Given the description of an element on the screen output the (x, y) to click on. 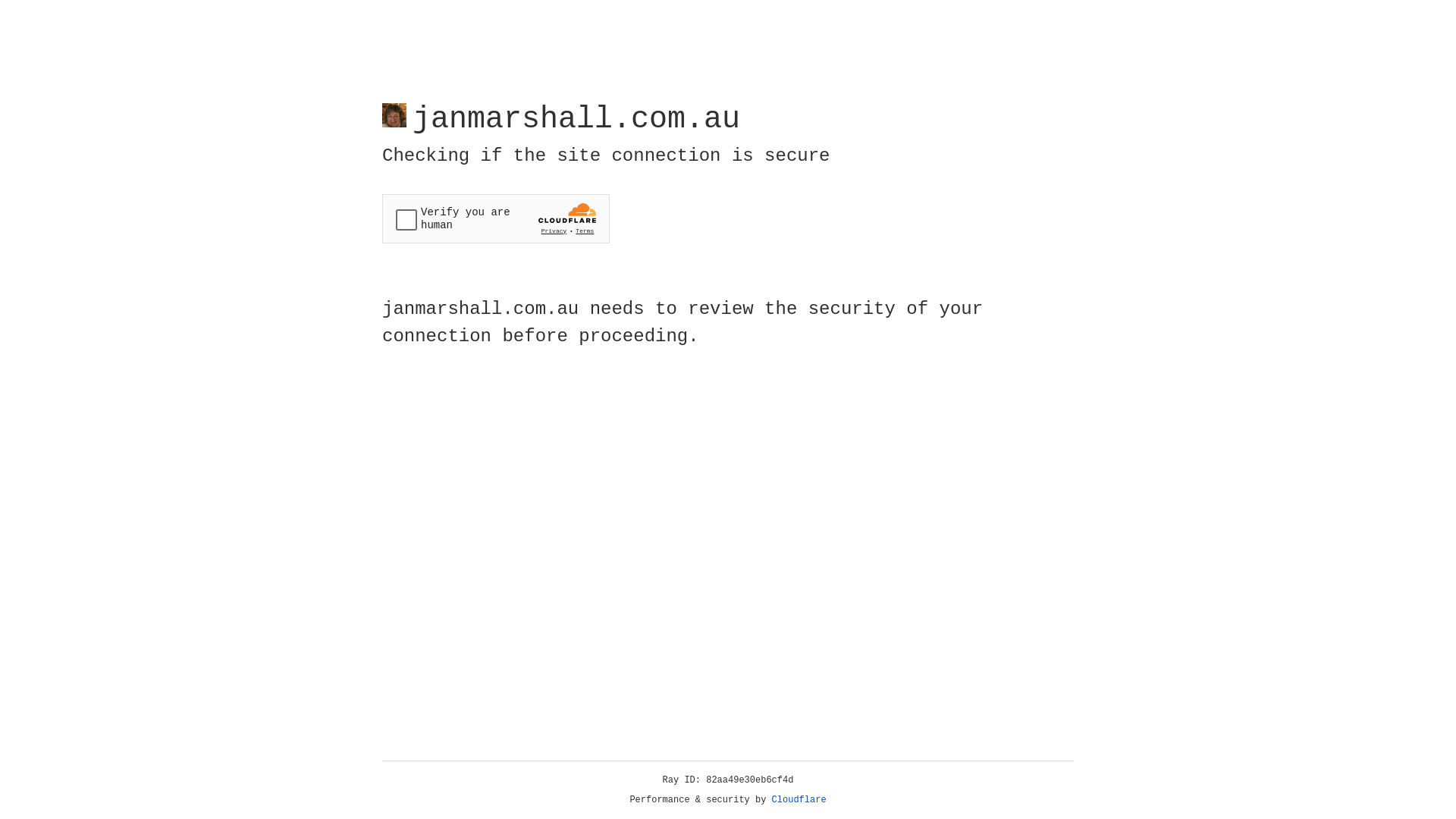
Widget containing a Cloudflare security challenge Element type: hover (495, 218)
Cloudflare Element type: text (798, 799)
